Given the description of an element on the screen output the (x, y) to click on. 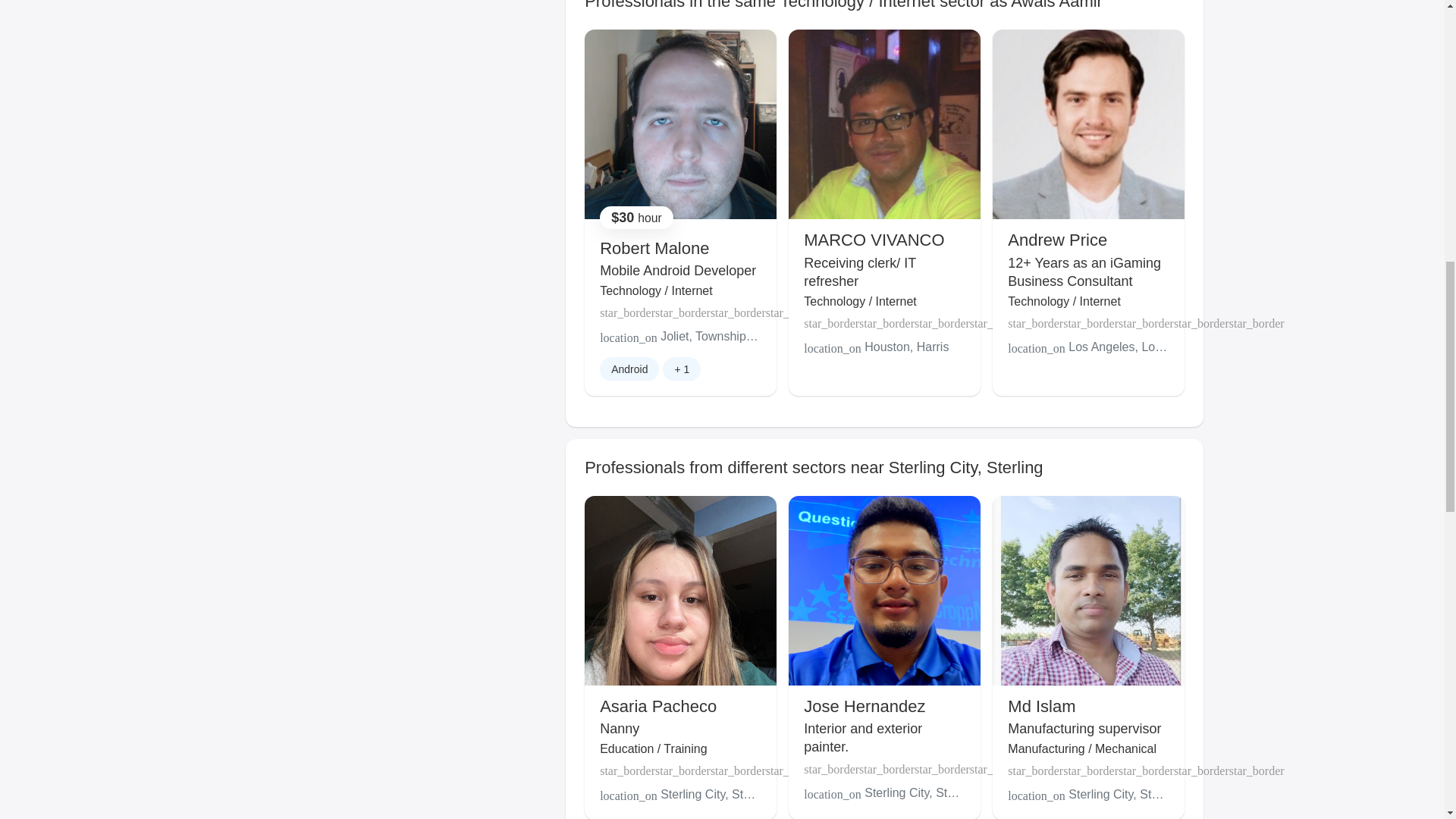
MARCO VIVANCO (873, 239)
Andrew Price (1056, 239)
Jose Hernandez (863, 705)
Md Islam (1041, 705)
Robert Malone (654, 248)
Andrew Price (1056, 239)
Jose  Hernandez (863, 705)
MARCO VIVANCO (873, 239)
Asaria Pacheco (657, 705)
Md Islam (1041, 705)
Robert Malone (654, 248)
Asaria Pacheco (657, 705)
